Given the description of an element on the screen output the (x, y) to click on. 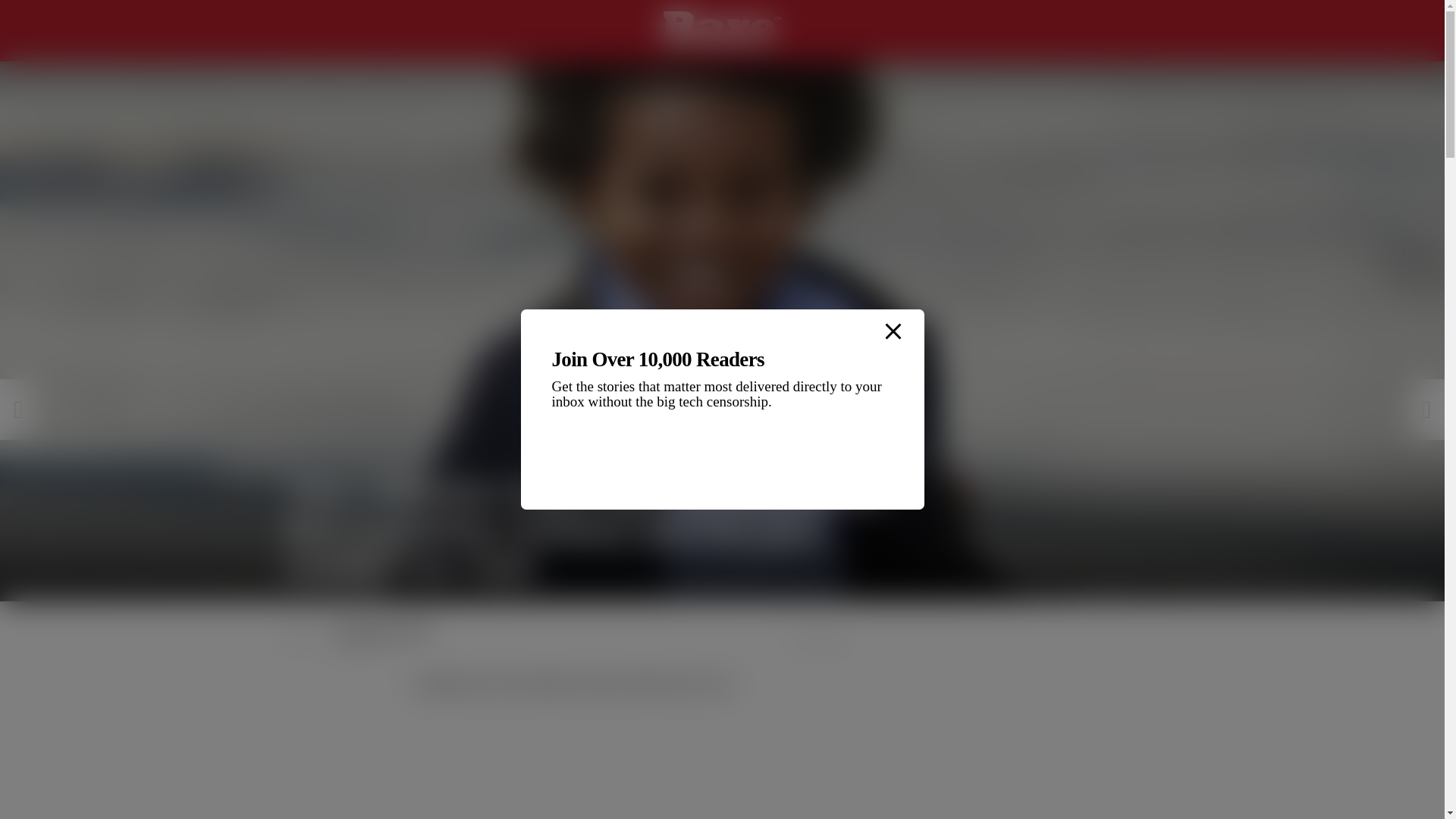
Posts by Nicole Moschella (384, 630)
music (691, 684)
All News (349, 74)
Nicole Moschella (384, 630)
Home (298, 74)
TV (723, 684)
ciara (498, 684)
celebrity babies (446, 684)
entertainment (548, 684)
fashion (603, 684)
July 20, 2017, 7:54 am (554, 644)
Modeling (648, 684)
